Given the description of an element on the screen output the (x, y) to click on. 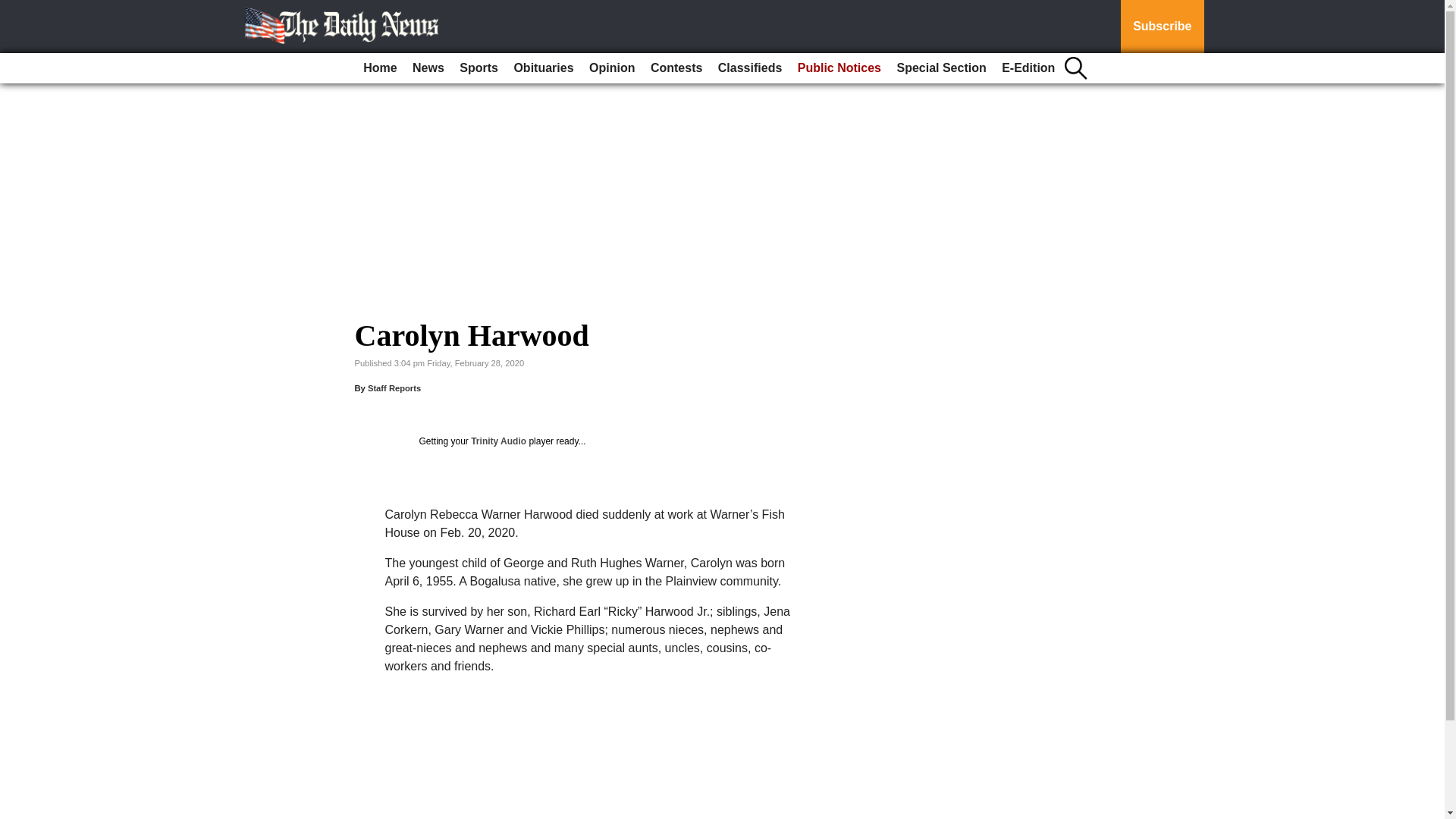
Home (379, 68)
E-Edition (1028, 68)
Go (13, 9)
Classifieds (749, 68)
Subscribe (1162, 26)
Contests (676, 68)
News (427, 68)
Opinion (611, 68)
Trinity Audio (497, 440)
Public Notices (839, 68)
